Given the description of an element on the screen output the (x, y) to click on. 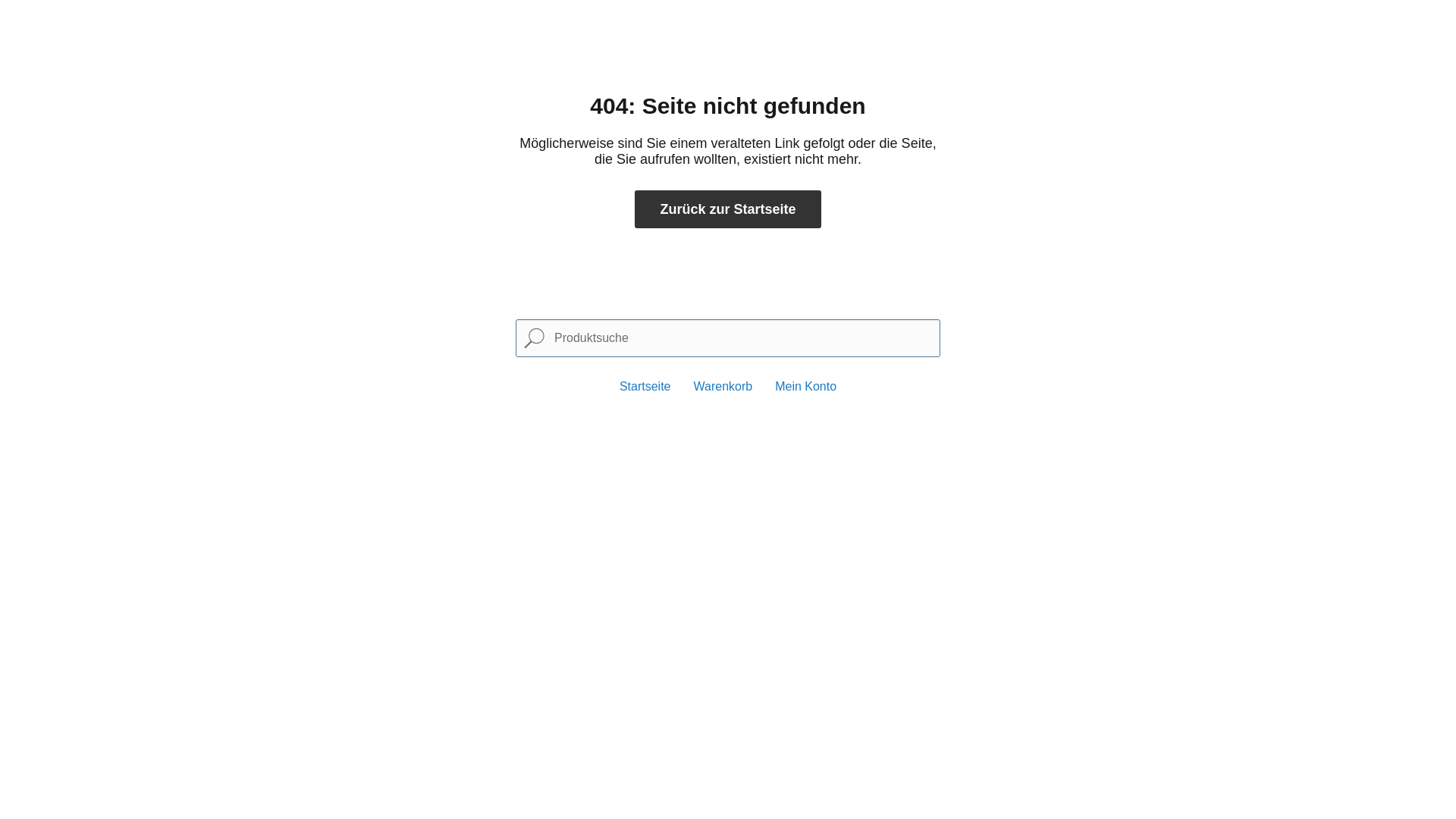
Mein Konto Element type: text (805, 386)
Warenkorb Element type: text (722, 386)
Startseite Element type: text (645, 386)
